Given the description of an element on the screen output the (x, y) to click on. 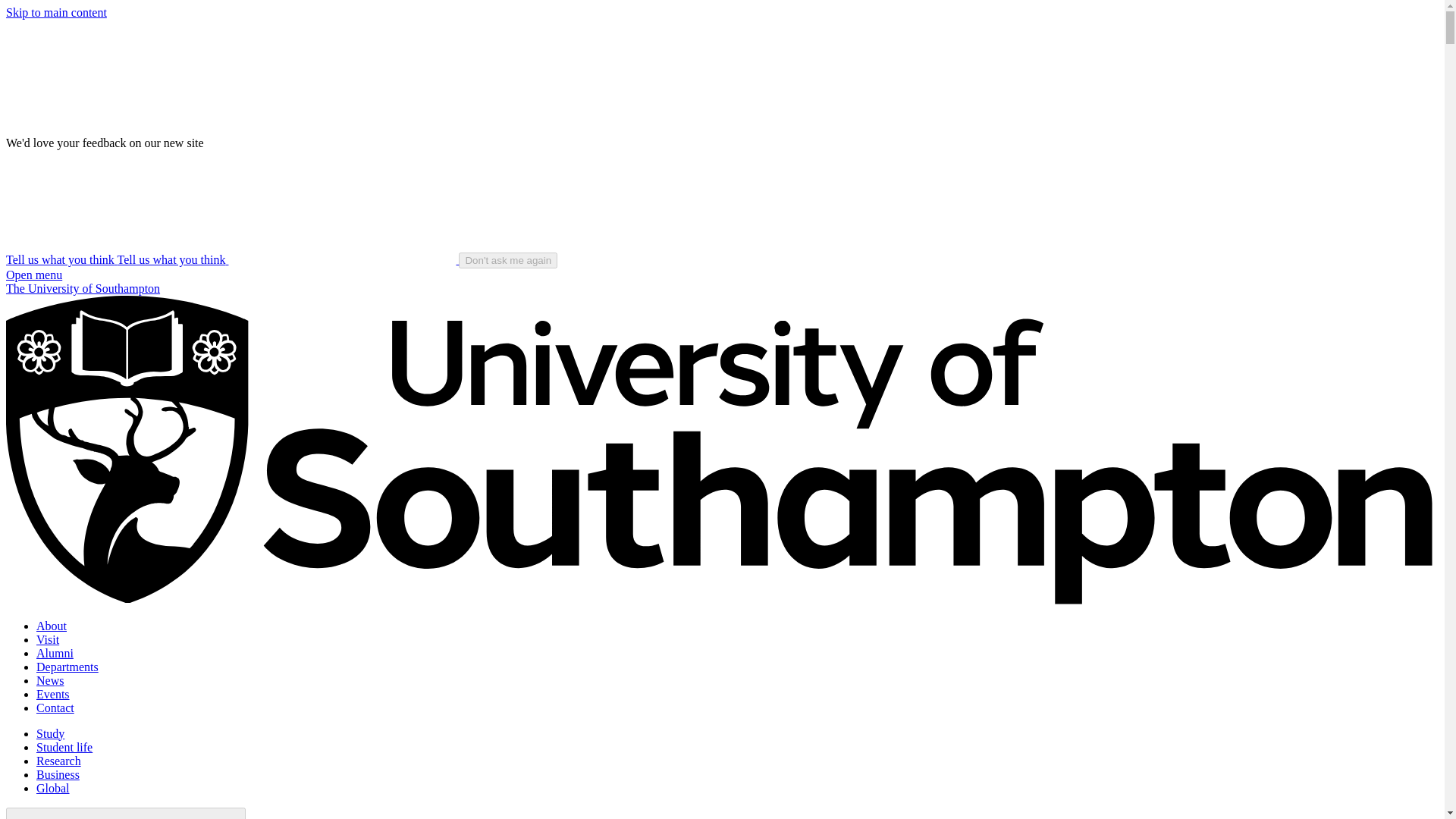
About (51, 625)
Study (50, 733)
Alumni (55, 653)
Departments (67, 666)
Visit (47, 639)
Student life (64, 747)
News (50, 680)
Global (52, 788)
Business (58, 774)
Contact (55, 707)
Skip to main content (55, 11)
Tell us what you think Tell us what you think (231, 259)
Research (58, 760)
Don't ask me again (507, 260)
Events (52, 694)
